Given the description of an element on the screen output the (x, y) to click on. 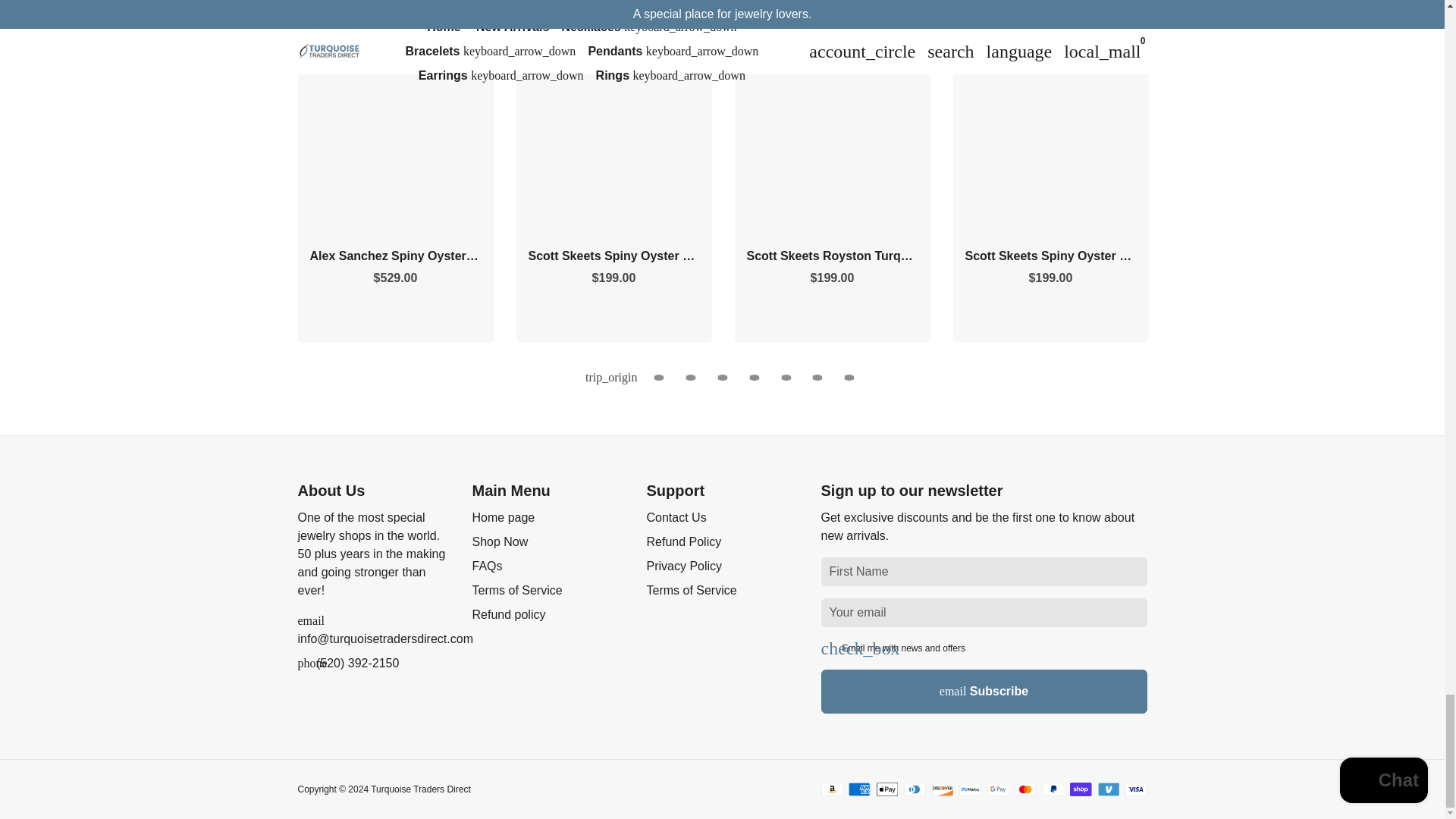
Meta Pay (970, 789)
American Express (859, 789)
Apple Pay (887, 789)
PayPal (1052, 789)
Google Pay (998, 789)
Discover (941, 789)
Venmo (1108, 789)
Visa (1136, 789)
Amazon (831, 789)
Mastercard (1025, 789)
